Given the description of an element on the screen output the (x, y) to click on. 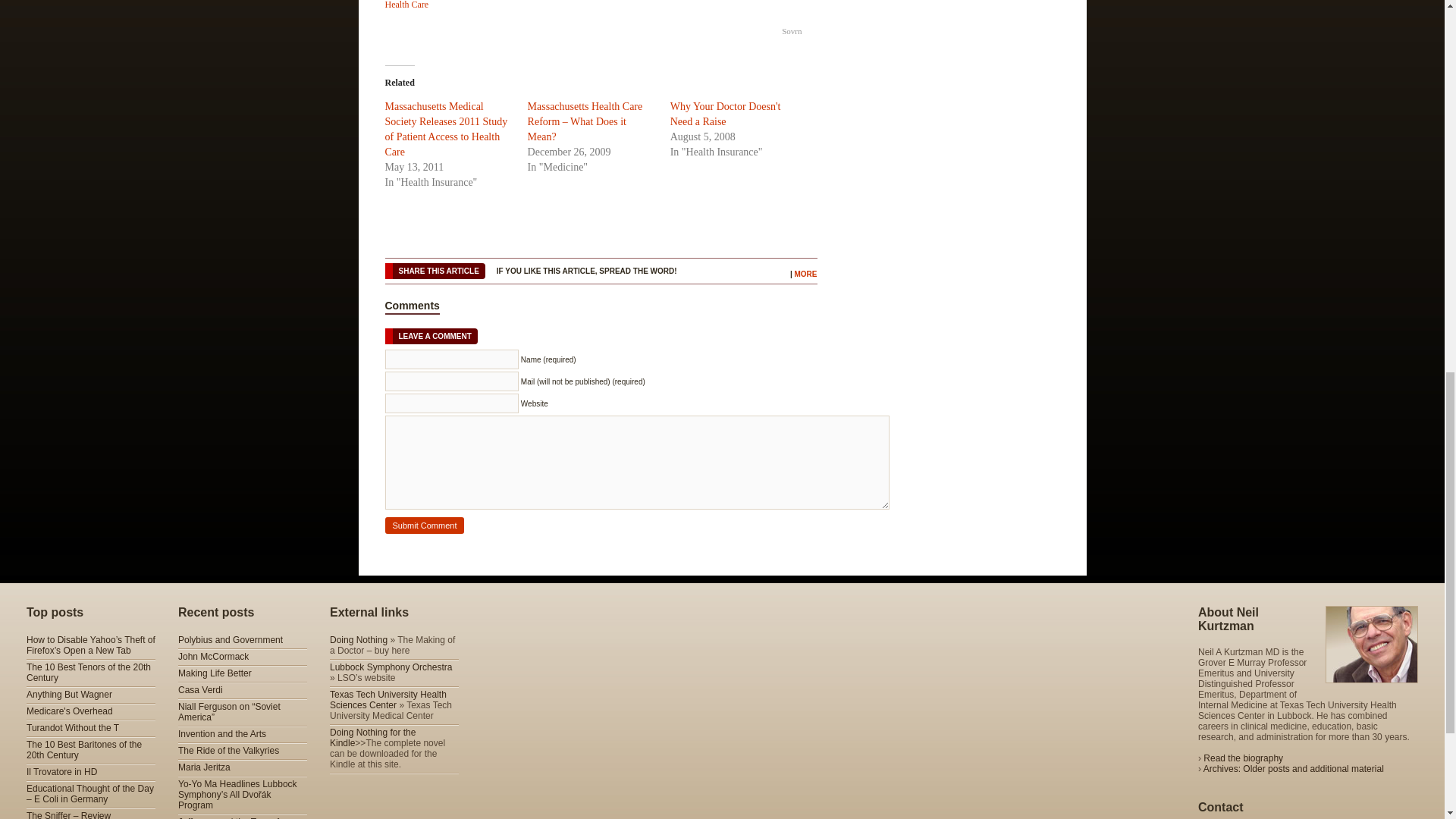
Sovrn (791, 30)
Why Your Doctor Doesn't Need a Raise (724, 113)
Submit Comment (424, 524)
